Given the description of an element on the screen output the (x, y) to click on. 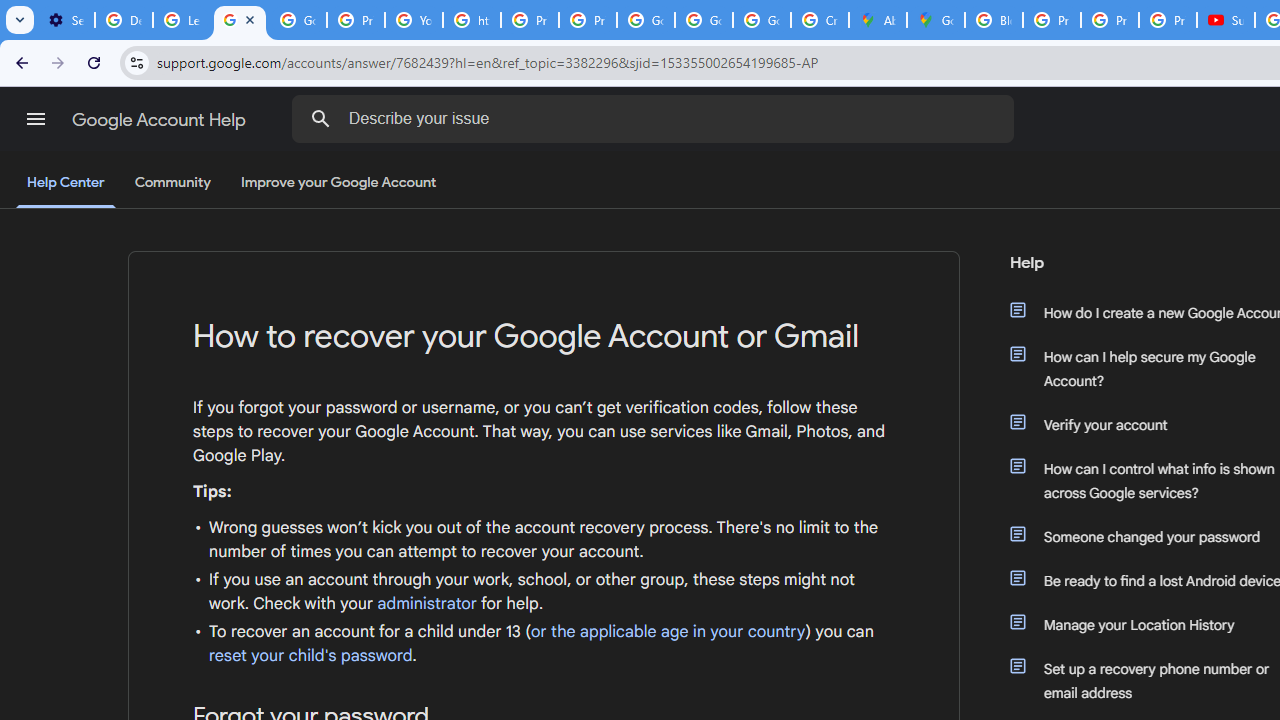
or the applicable age in your country (668, 632)
Settings - Customize profile (65, 20)
Privacy Help Center - Policies Help (1110, 20)
Search Help Center (320, 118)
Google Account Help (160, 119)
Subscriptions - YouTube (1225, 20)
Privacy Help Center - Policies Help (355, 20)
YouTube (413, 20)
Improve your Google Account (339, 183)
Describe your issue (655, 118)
